Given the description of an element on the screen output the (x, y) to click on. 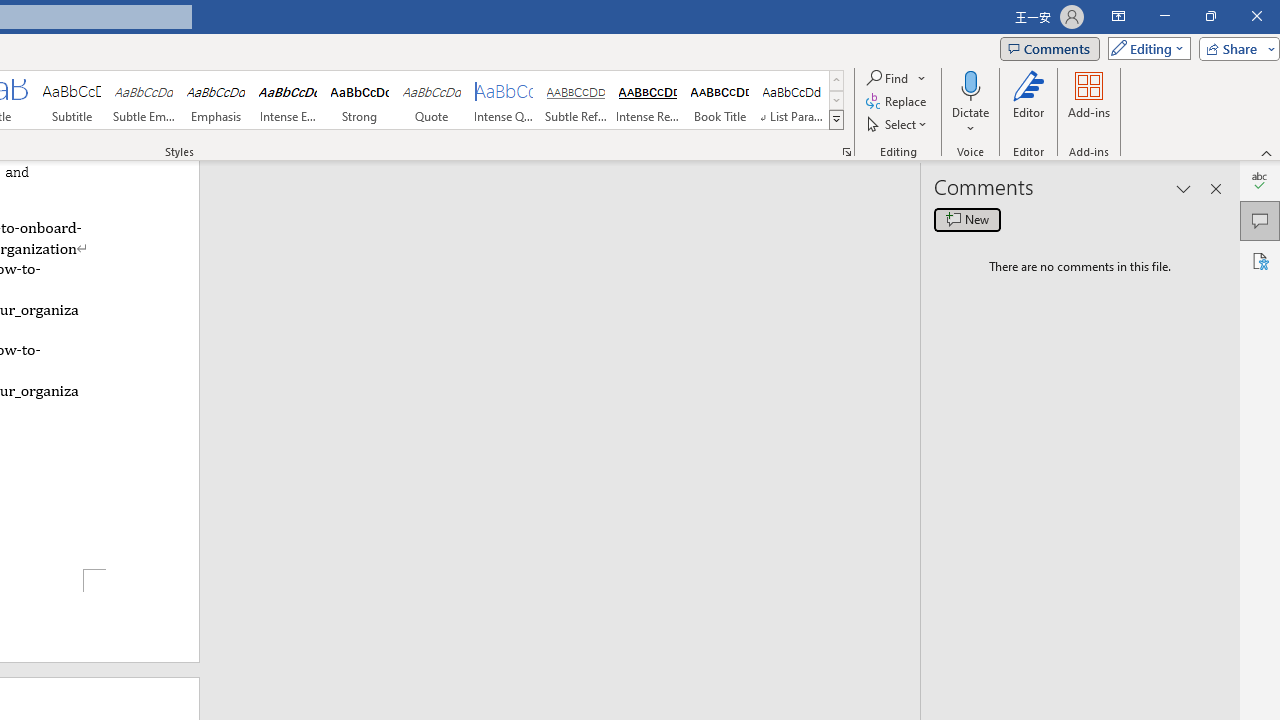
Editor (1028, 102)
Emphasis (216, 100)
Strong (359, 100)
Quote (431, 100)
Row up (836, 79)
Subtitle (71, 100)
